Given the description of an element on the screen output the (x, y) to click on. 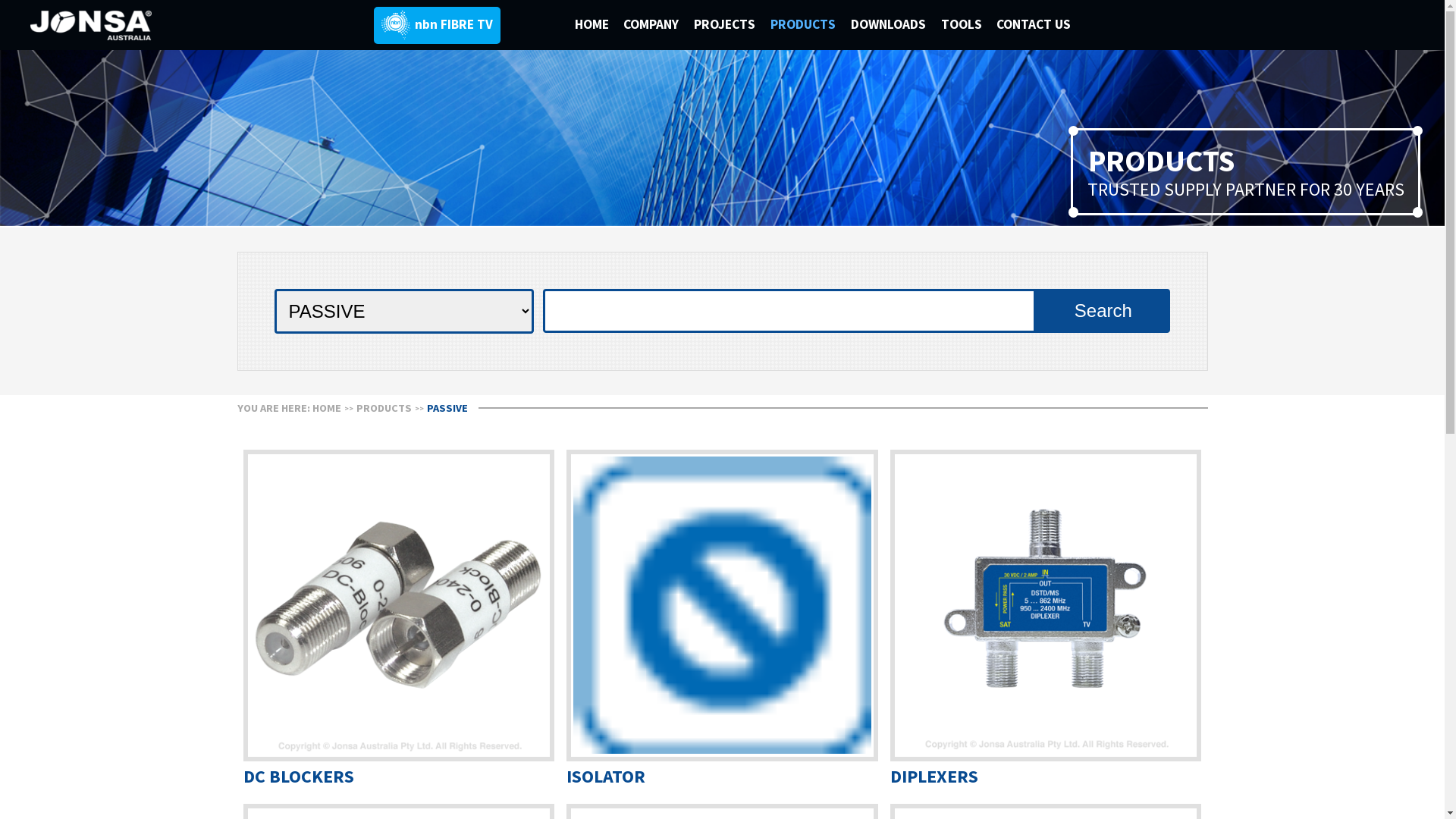
DC BLOCKERS Element type: text (398, 620)
PRODUCTS Element type: text (810, 23)
CONTACT US Element type: text (1039, 23)
TOOLS Element type: text (967, 23)
Search Element type: text (1102, 310)
DIPLEXERS Element type: text (1046, 620)
HOME Element type: text (597, 23)
ISOLATOR Element type: text (722, 620)
DOWNLOADS Element type: text (895, 23)
COMPANY Element type: text (658, 23)
nbn FIBRE TV Element type: text (436, 24)
PROJECTS Element type: text (731, 23)
PRODUCTS Element type: text (383, 407)
